Given the description of an element on the screen output the (x, y) to click on. 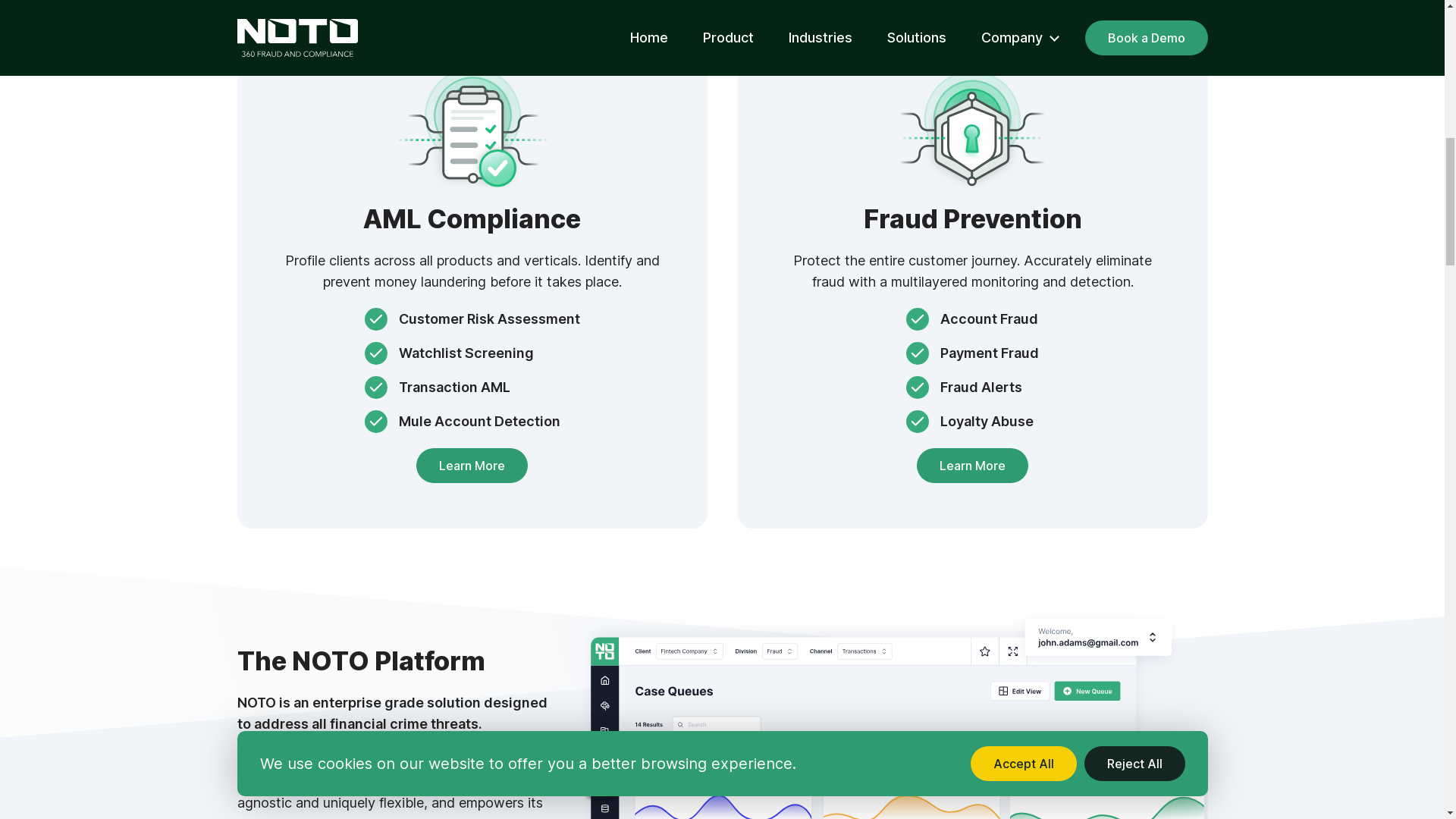
Learn More (972, 465)
Learn More (471, 465)
